Given the description of an element on the screen output the (x, y) to click on. 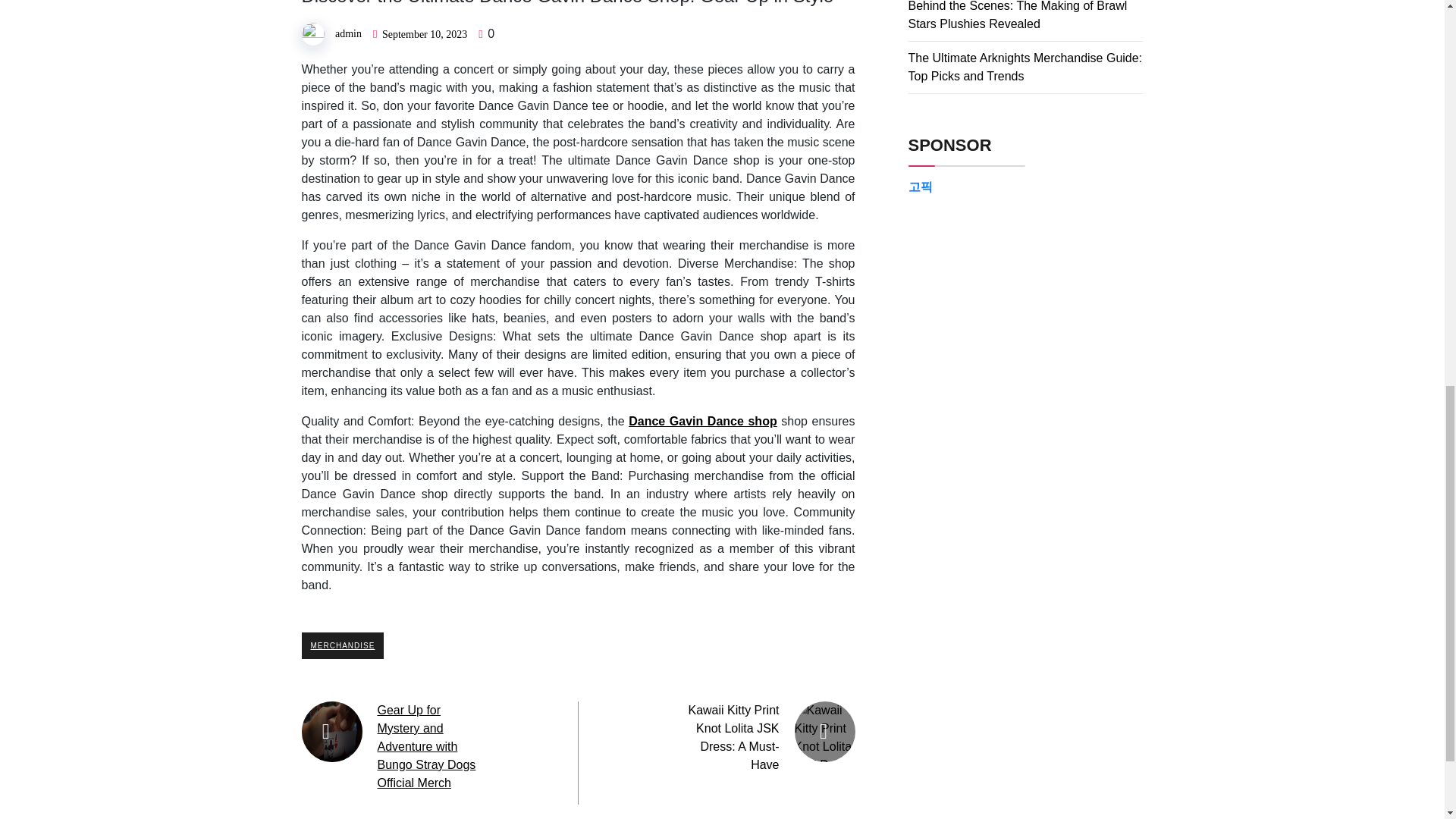
MERCHANDISE (342, 645)
admin (347, 33)
Kawaii Kitty Print Knot Lolita JSK Dress: A Must-Have (732, 737)
September 10, 2023 (424, 34)
Dance Gavin Dance shop (702, 420)
